Given the description of an element on the screen output the (x, y) to click on. 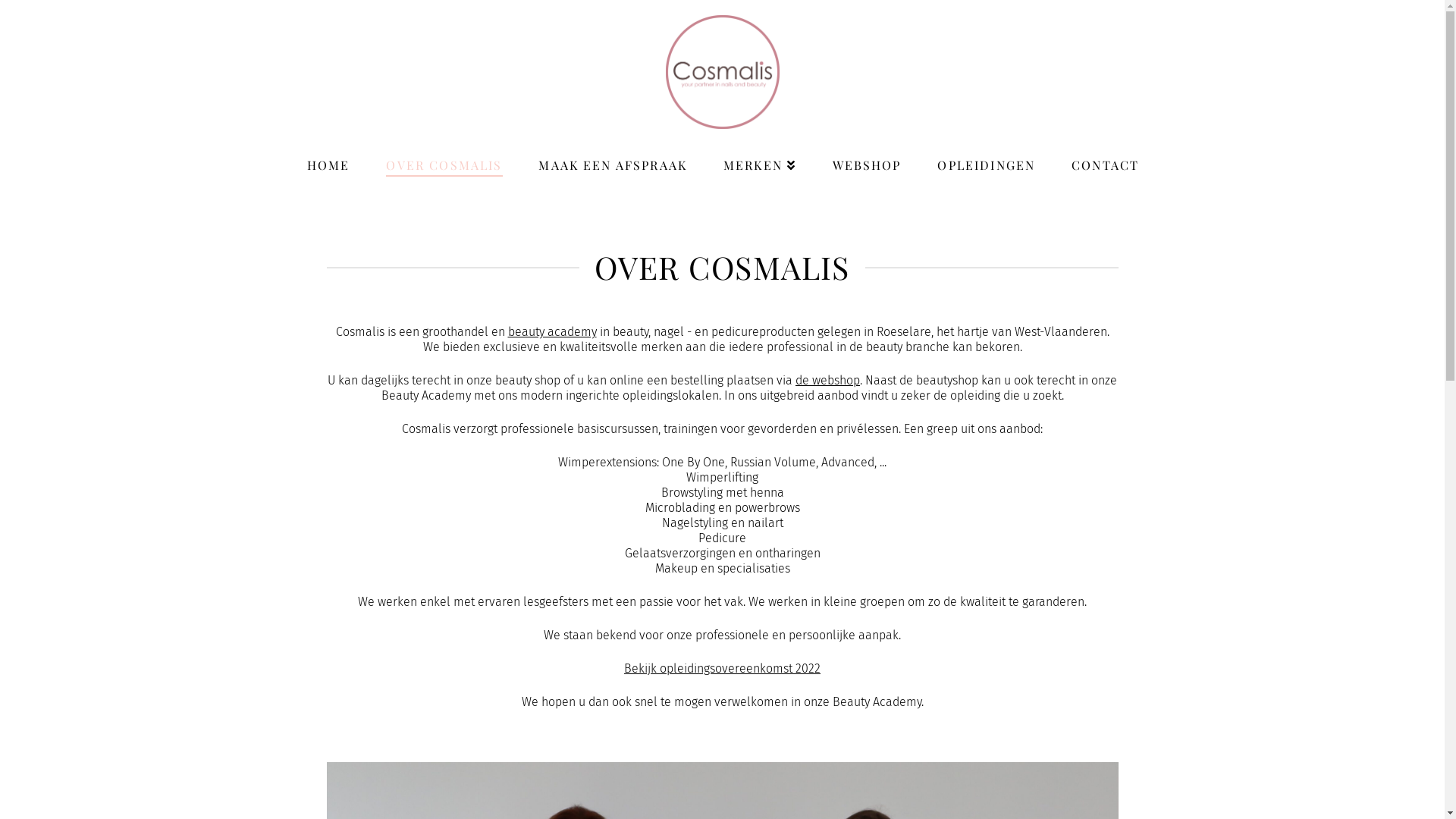
OVER COSMALIS Element type: text (443, 155)
WEBSHOP Element type: text (866, 155)
MERKEN Element type: text (758, 155)
groothandel Element type: text (454, 331)
Bekijk opleidingsovereenkomst 2022 Element type: text (722, 668)
OPLEIDINGEN Element type: text (985, 155)
MAAK EEN AFSPRAAK Element type: text (611, 155)
de webshop Element type: text (827, 380)
HOME Element type: text (327, 155)
CONTACT Element type: text (1104, 155)
beauty academy Element type: text (552, 331)
